Given the description of an element on the screen output the (x, y) to click on. 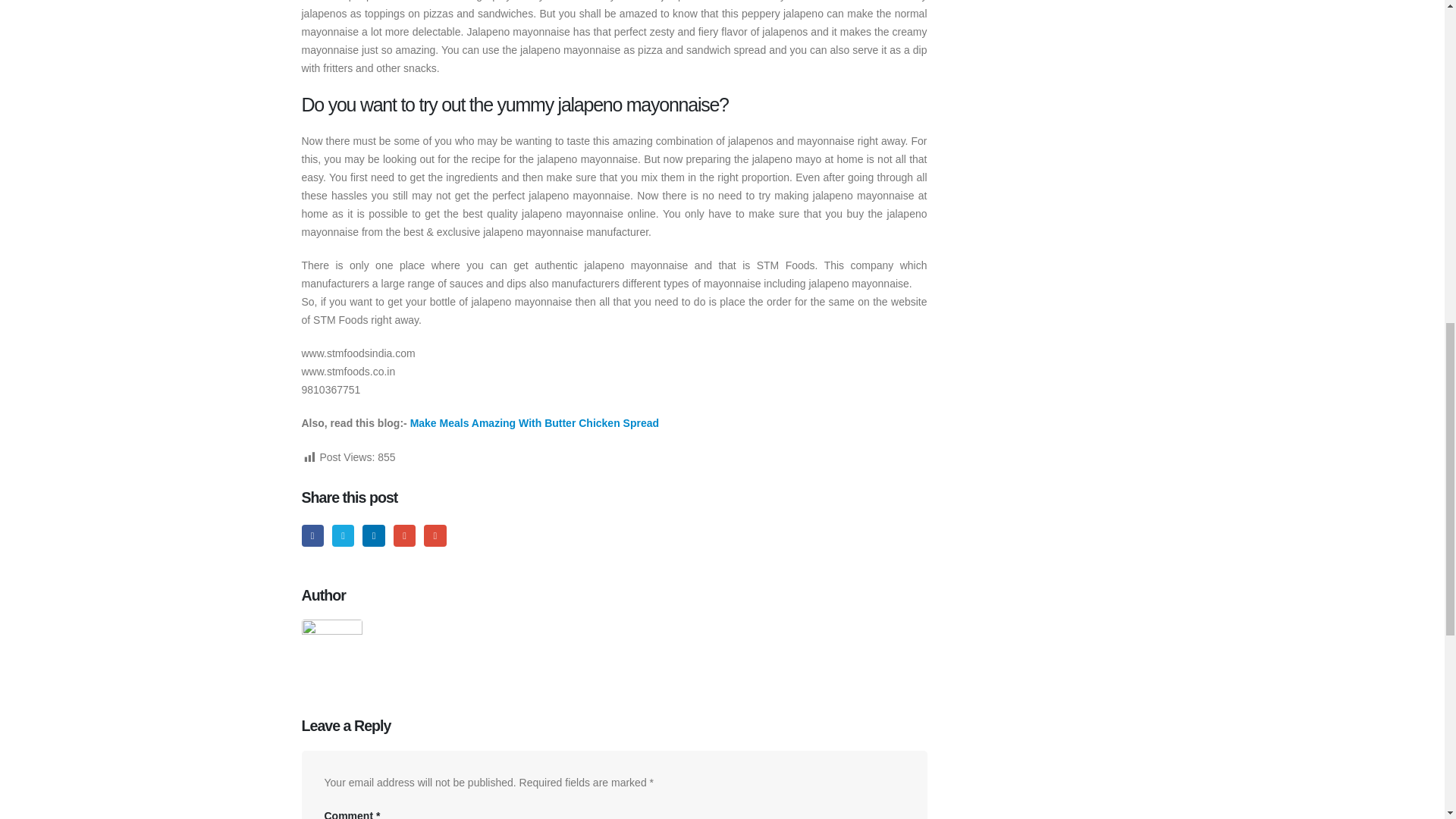
Twitter (342, 535)
Twitter (342, 535)
Email (434, 535)
LinkedIn (373, 535)
Email (434, 535)
Facebook (312, 535)
Facebook (312, 535)
Make Meals Amazing With Butter Chicken Spread (534, 422)
LinkedIn (373, 535)
